Given the description of an element on the screen output the (x, y) to click on. 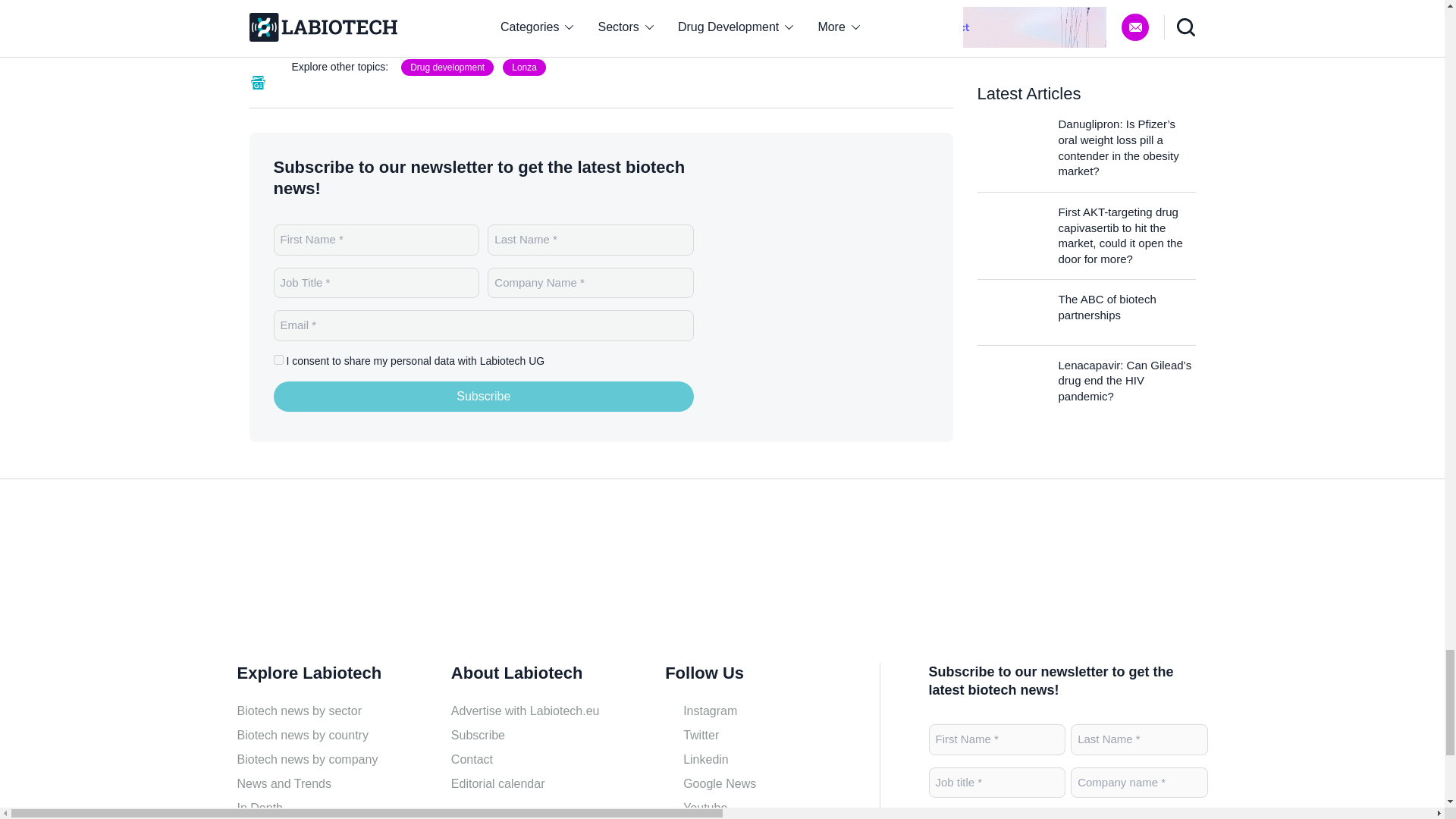
Subscribe (483, 396)
1 (277, 359)
Labiotech.eu (309, 576)
